Given the description of an element on the screen output the (x, y) to click on. 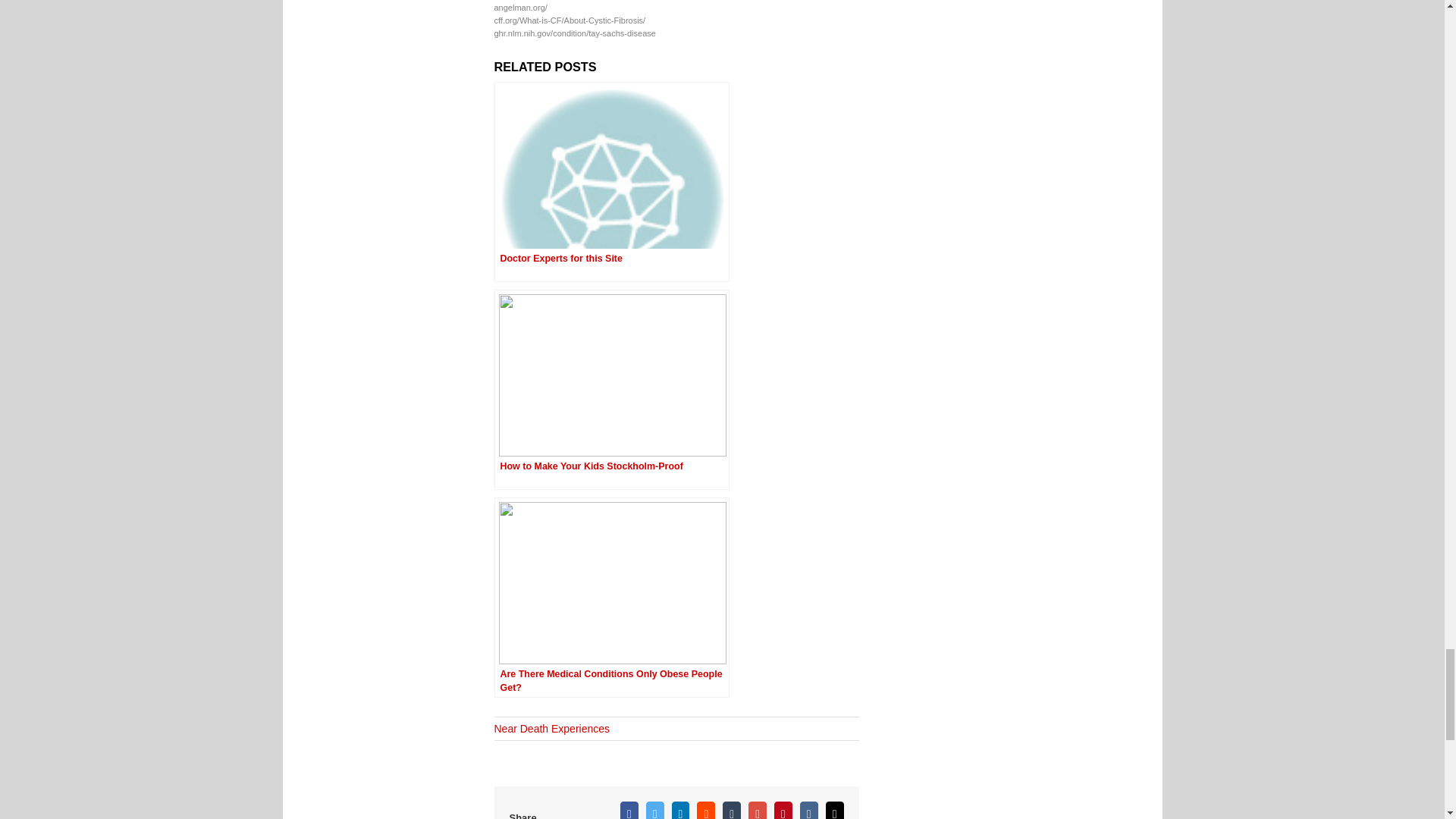
Pinterest (783, 810)
Doctor Experts for this Site (612, 181)
Reddit (705, 810)
How to Make Your Kids Stockholm-Proof (612, 389)
Linkedin (680, 810)
Twitter (654, 810)
Are There Medical Conditions Only Obese People Get? (612, 597)
Email (834, 810)
Vk (808, 810)
Facebook (629, 810)
